Given the description of an element on the screen output the (x, y) to click on. 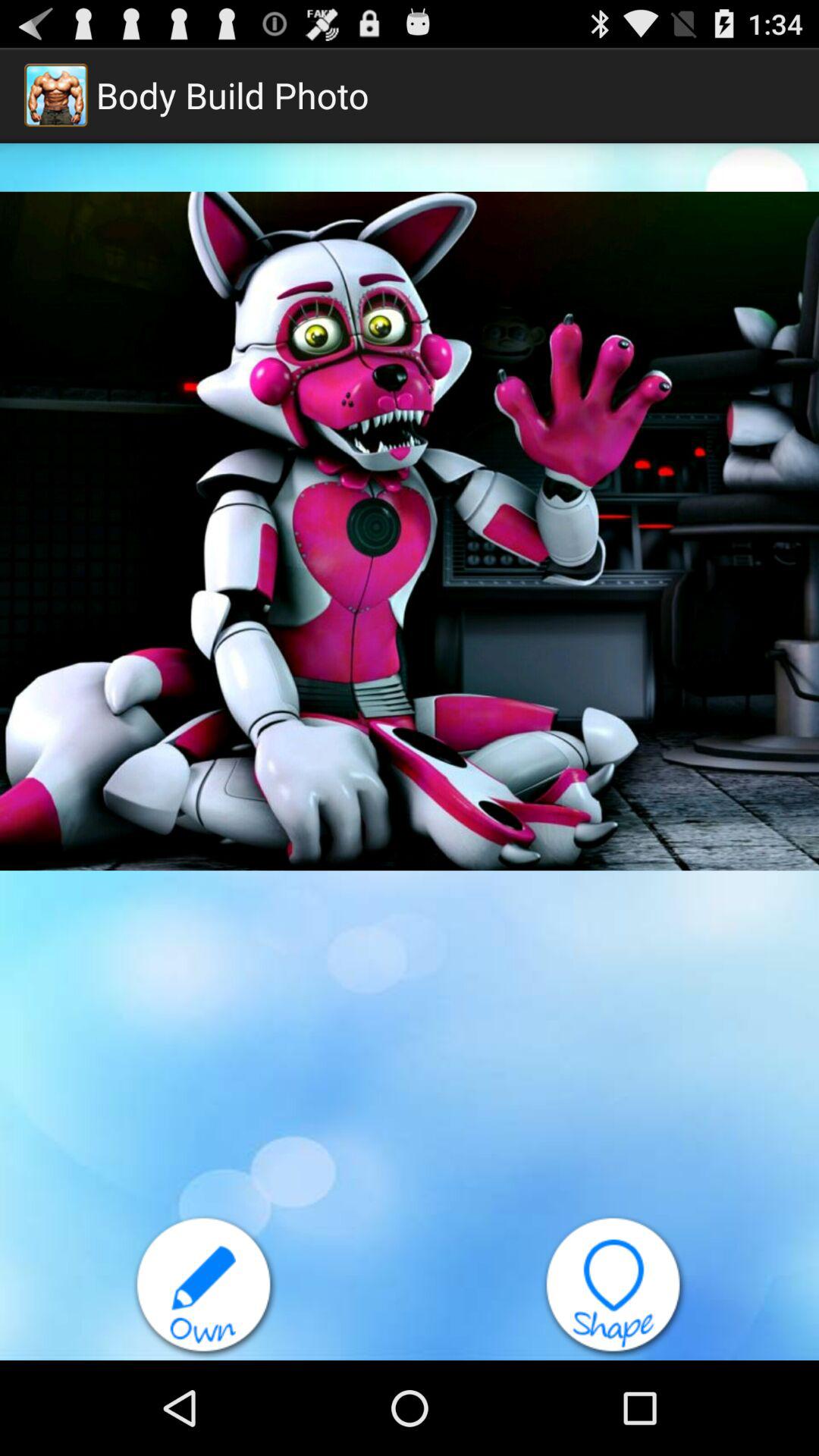
create your own (204, 1287)
